Given the description of an element on the screen output the (x, y) to click on. 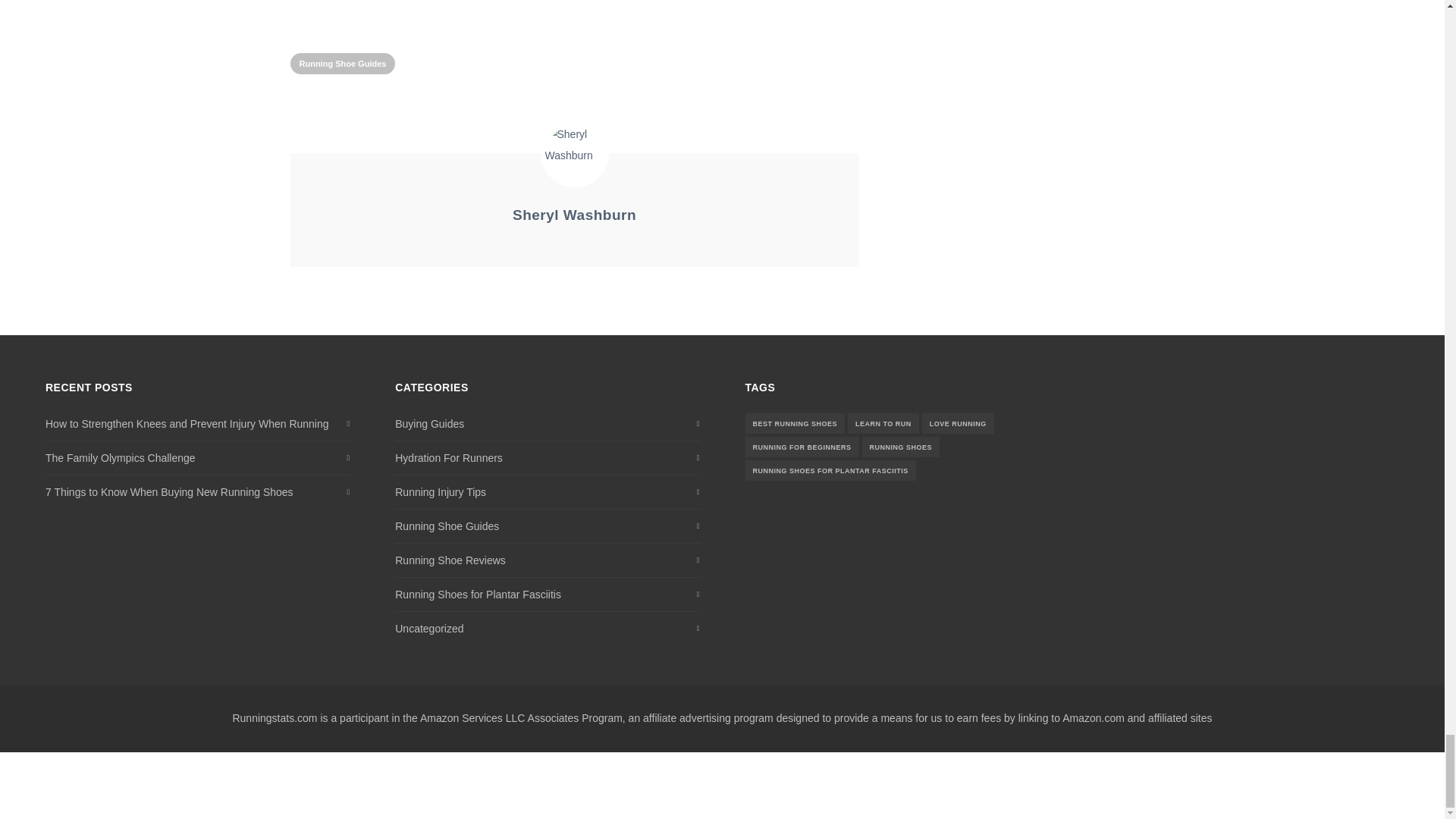
Shopping, gadget tips and recommendations (429, 423)
Running Shoe Guides (341, 63)
